Given the description of an element on the screen output the (x, y) to click on. 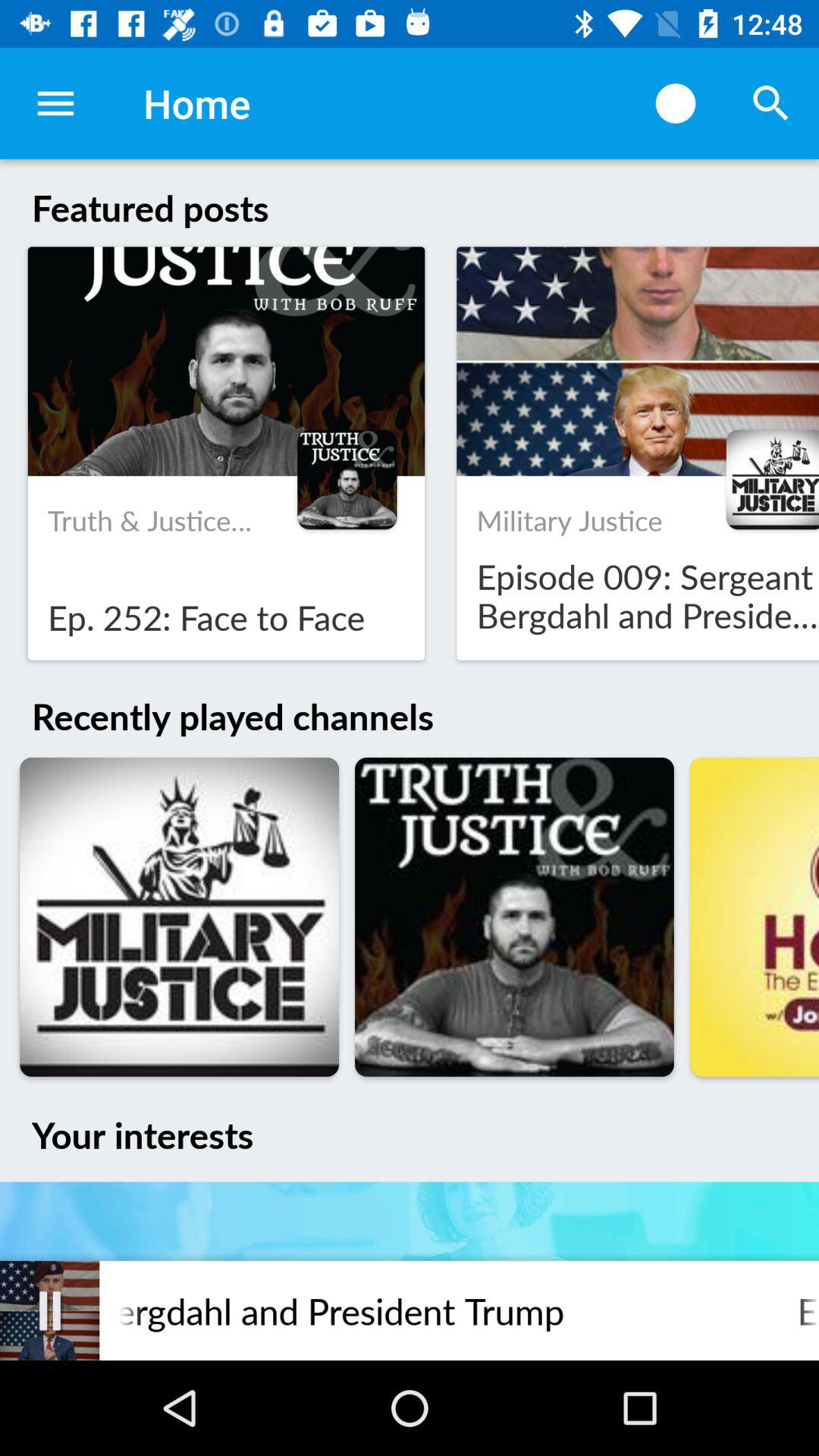
click item next to the episode 009 sergeant icon (49, 1310)
